Given the description of an element on the screen output the (x, y) to click on. 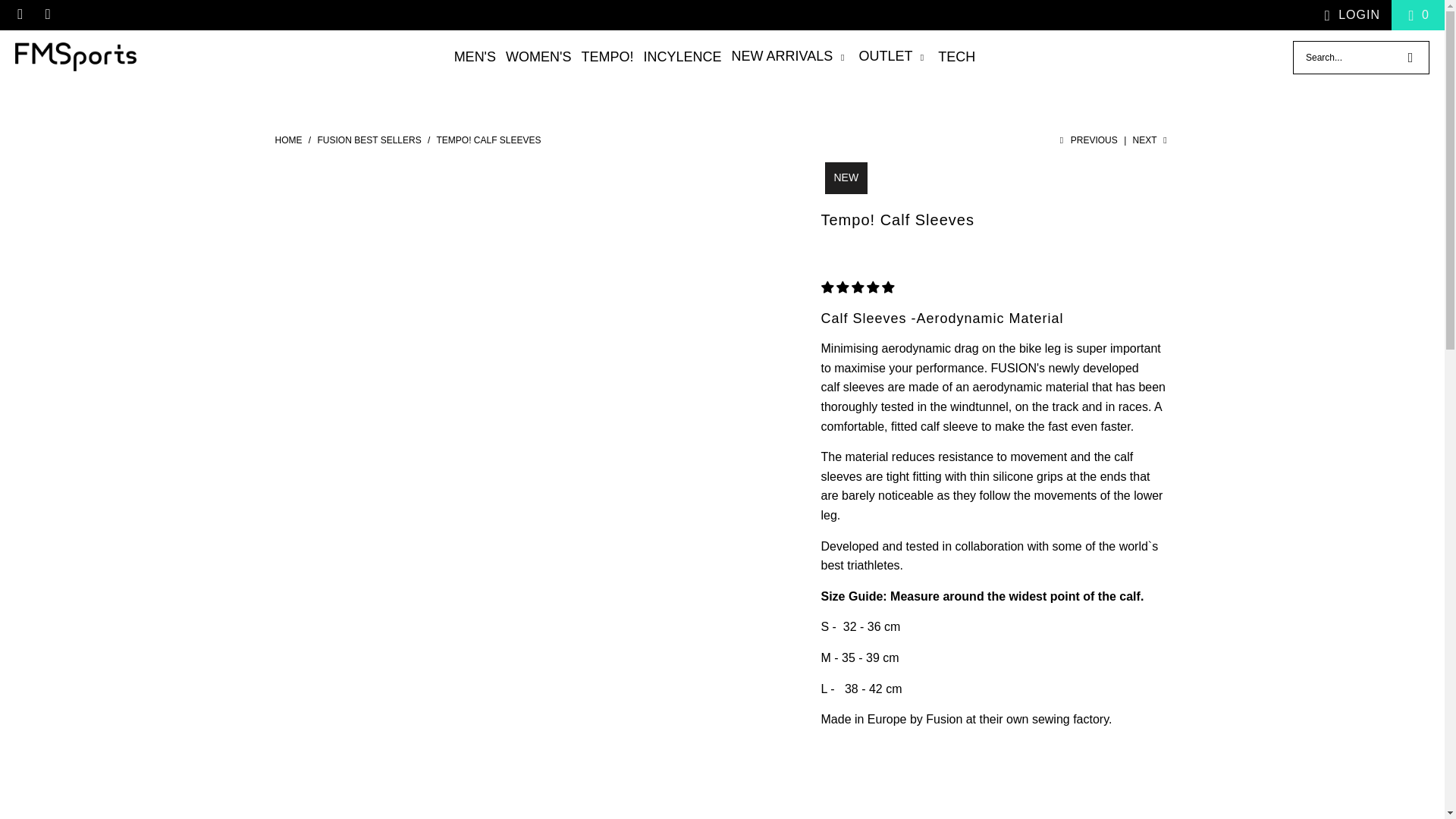
TEMPO! (606, 57)
My Account  (1348, 14)
MEN'S (475, 57)
FM Sports (75, 57)
WOMEN'S (537, 57)
LOGIN (1348, 14)
Previous (1086, 140)
FM Sports on Instagram (47, 14)
INCYLENCE (682, 57)
FM Sports (289, 140)
